Given the description of an element on the screen output the (x, y) to click on. 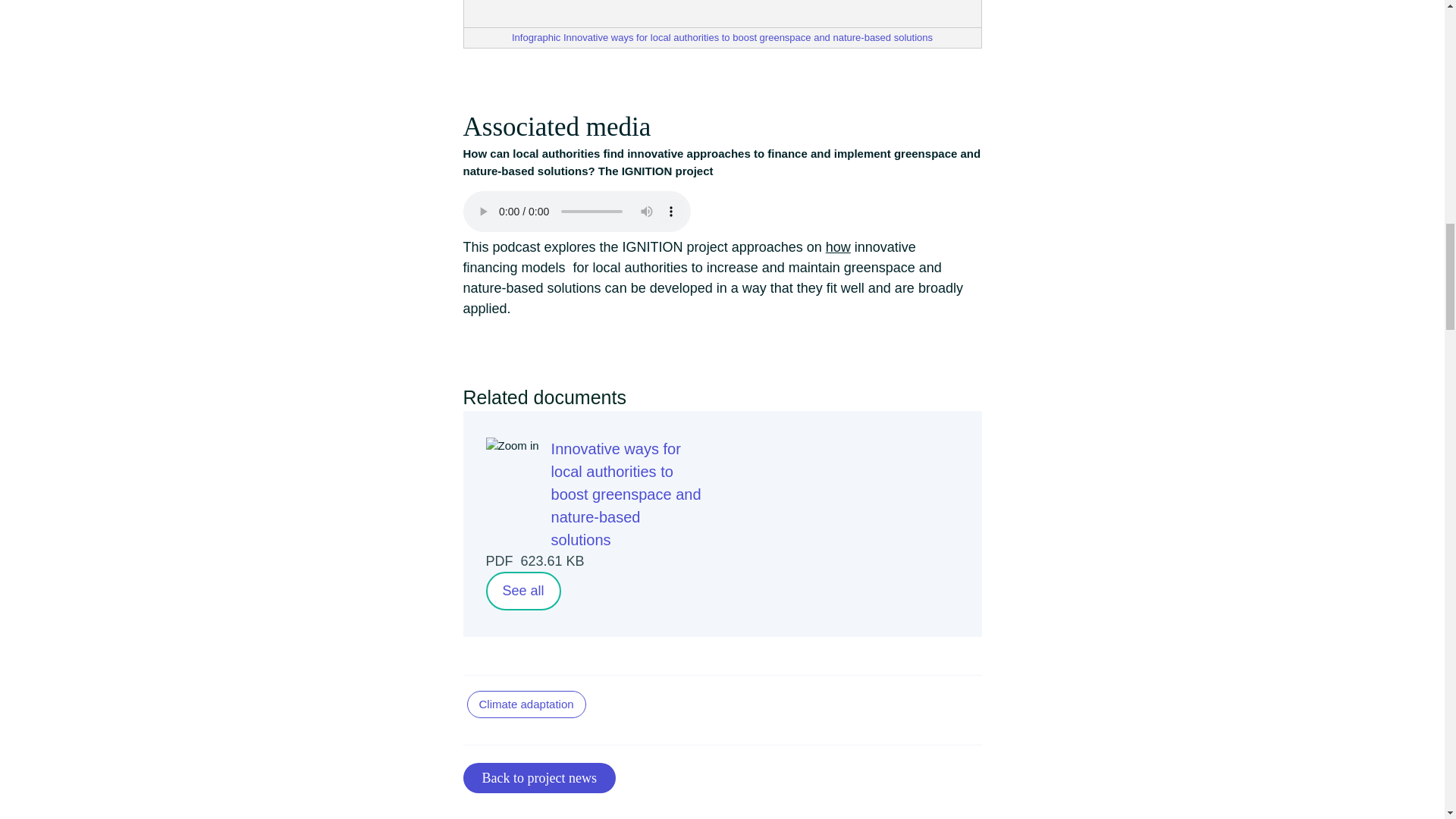
See all (522, 590)
Back to project news (538, 777)
Climate adaptation (526, 705)
